Given the description of an element on the screen output the (x, y) to click on. 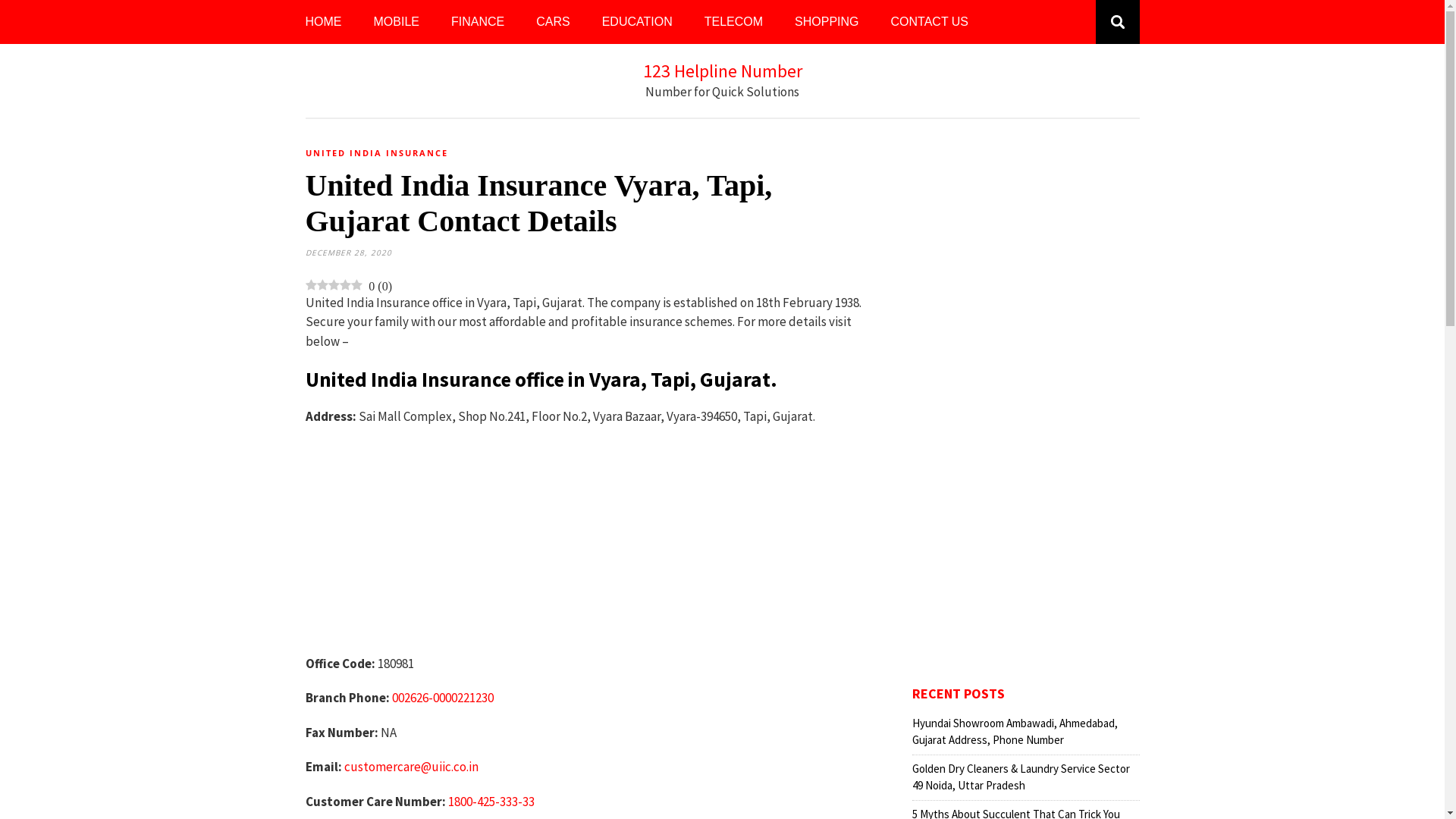
HOME Element type: text (322, 21)
Advertisement Element type: hover (590, 547)
customercare@uiic.co.in Element type: text (411, 766)
TELECOM Element type: text (733, 21)
1800-425-333-33 Element type: text (490, 801)
CARS Element type: text (552, 21)
SHOPPING Element type: text (826, 21)
123 Helpline Number Element type: text (722, 70)
Advertisement Element type: hover (1025, 410)
CONTACT US Element type: text (930, 21)
FINANCE Element type: text (477, 21)
MOBILE Element type: text (395, 21)
UNITED INDIA INSURANCE Element type: text (375, 152)
EDUCATION Element type: text (637, 21)
002626-0000221230 Element type: text (441, 697)
